Given the description of an element on the screen output the (x, y) to click on. 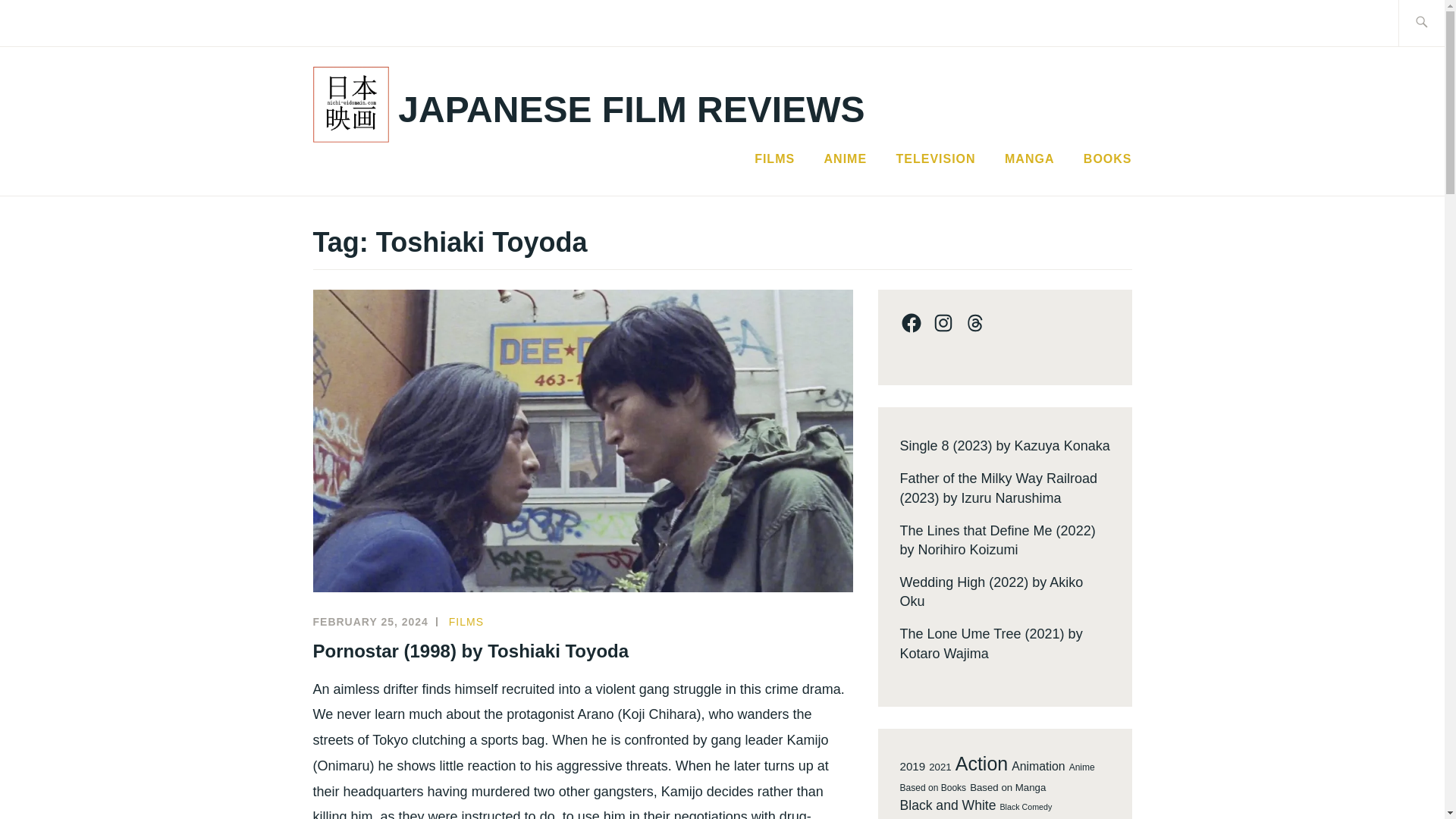
ANIME (845, 159)
Black and White (947, 805)
Comedy (1047, 816)
Based on Manga (1007, 788)
Based on Books (932, 788)
2019 (911, 765)
Animation (1037, 766)
Search (47, 22)
JAPANESE FILM REVIEWS (630, 109)
Instagram (942, 323)
Black Comedy (1026, 807)
Threads (973, 323)
2021 (939, 767)
Action (981, 764)
FILMS (465, 621)
